Given the description of an element on the screen output the (x, y) to click on. 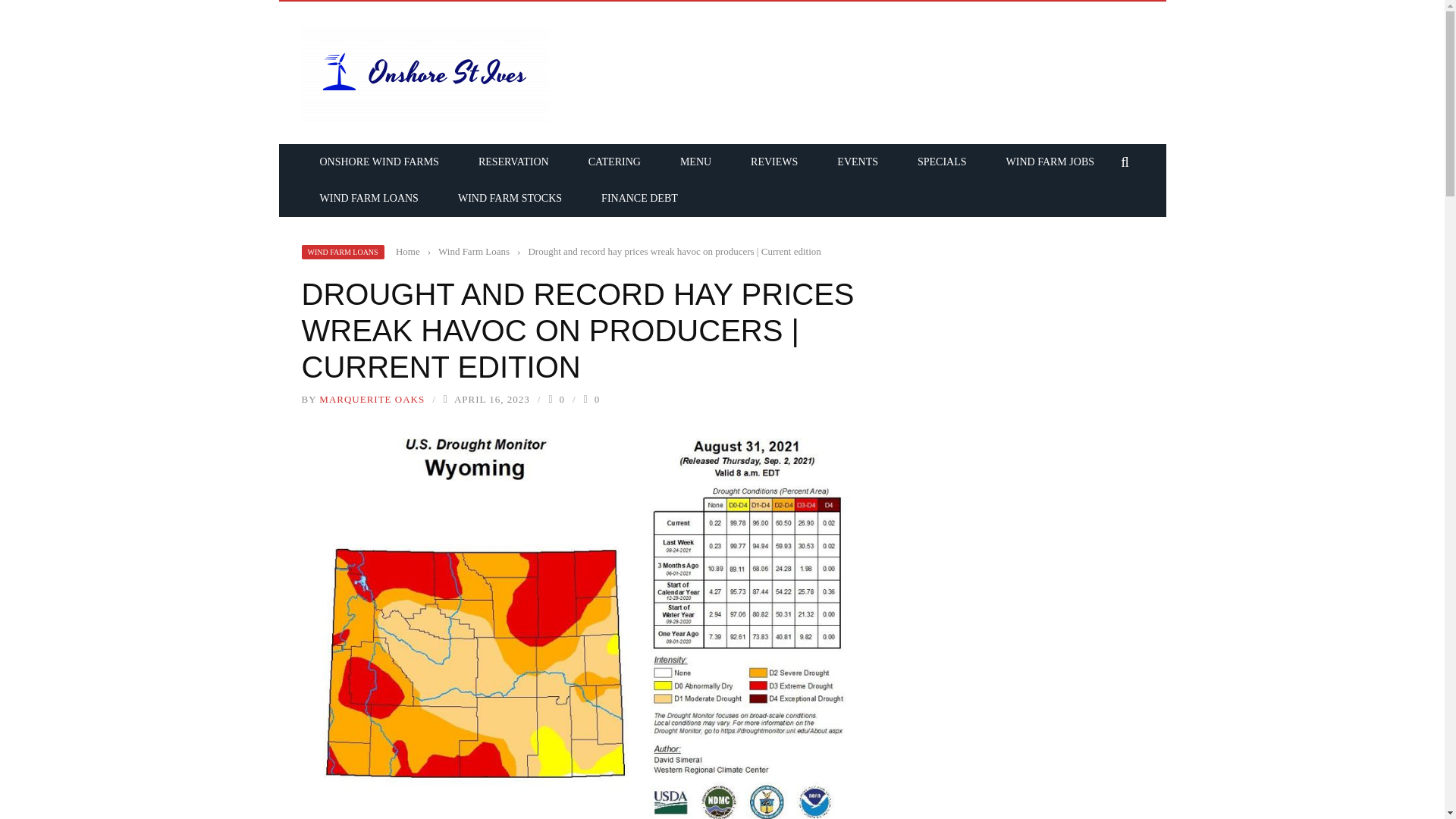
MENU (695, 161)
MARQUERITE OAKS (371, 398)
FINANCE DEBT (639, 197)
WIND FARM JOBS (1050, 161)
Home (408, 251)
RESERVATION (513, 161)
WIND FARM LOANS (342, 251)
EVENTS (857, 161)
WIND FARM LOANS (368, 197)
CATERING (614, 161)
Wind Farm Loans (473, 251)
ONSHORE WIND FARMS (379, 161)
WIND FARM STOCKS (509, 197)
REVIEWS (773, 161)
SPECIALS (942, 161)
